Given the description of an element on the screen output the (x, y) to click on. 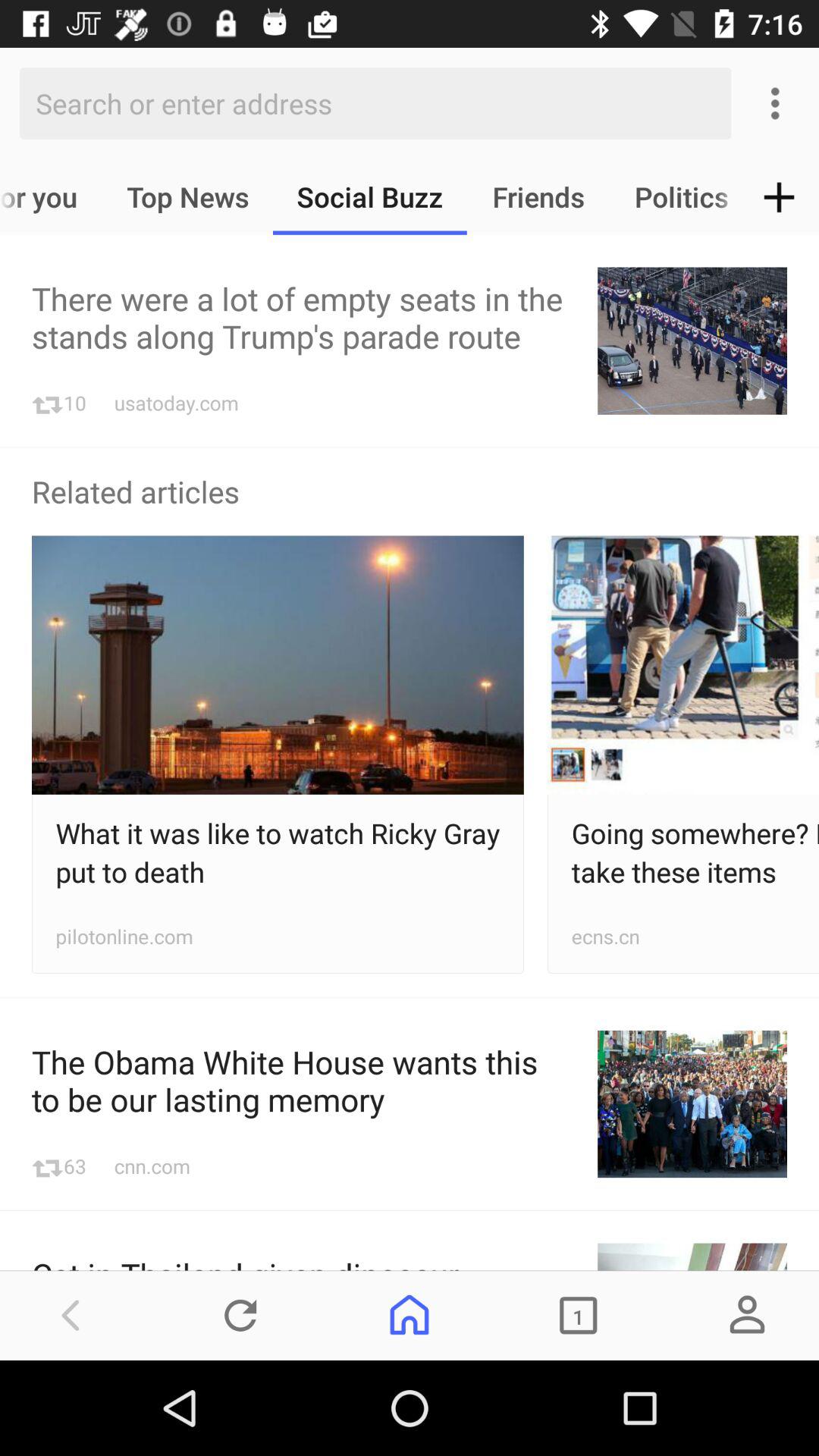
turn on item to the right of the politics (779, 196)
